Given the description of an element on the screen output the (x, y) to click on. 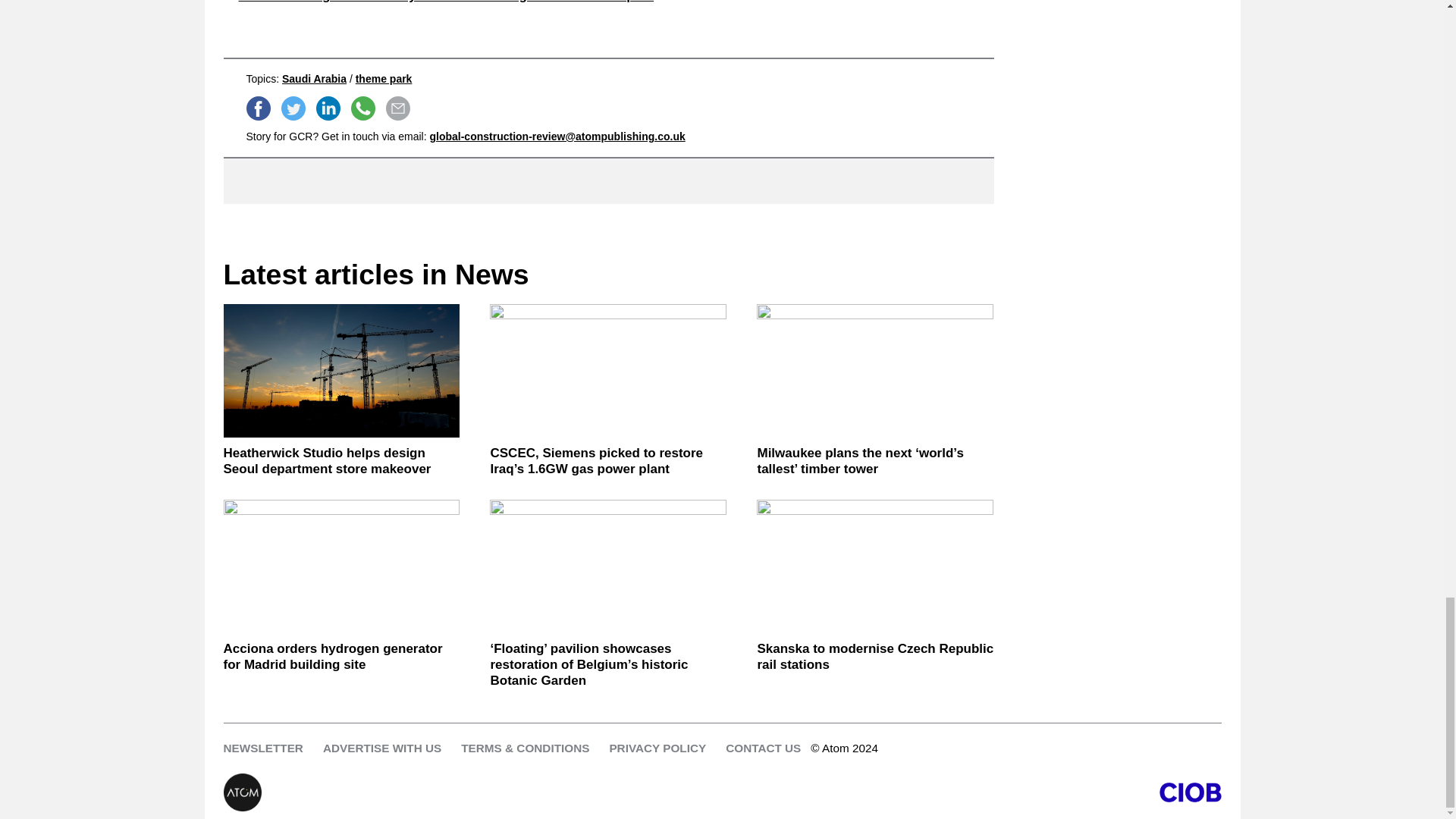
Share on LinkedIn (327, 108)
Share on WhatsApp (362, 108)
Share on Facebook (257, 108)
Tweet (292, 108)
Send email (397, 108)
